Given the description of an element on the screen output the (x, y) to click on. 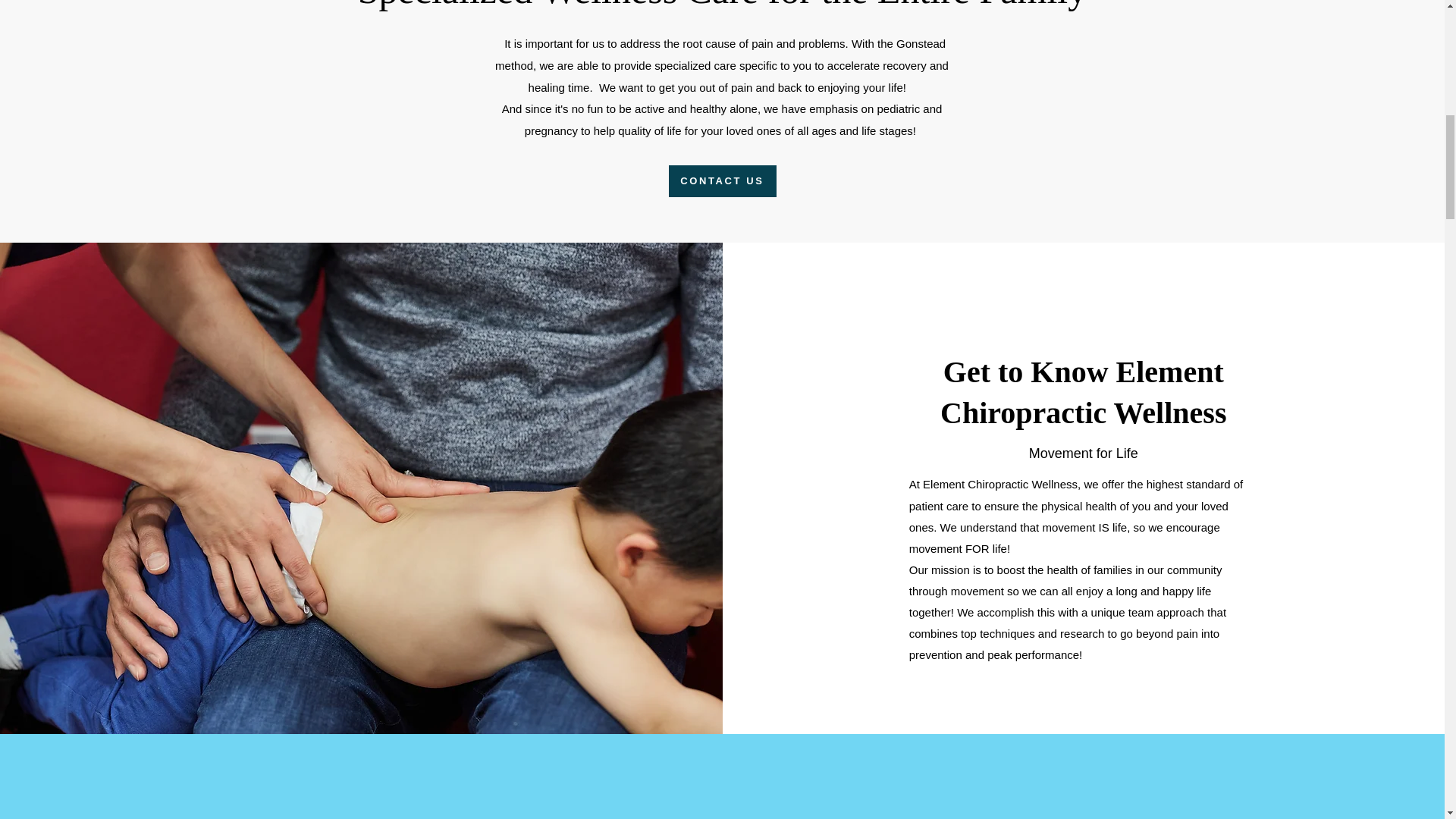
CONTACT US (722, 181)
